Given the description of an element on the screen output the (x, y) to click on. 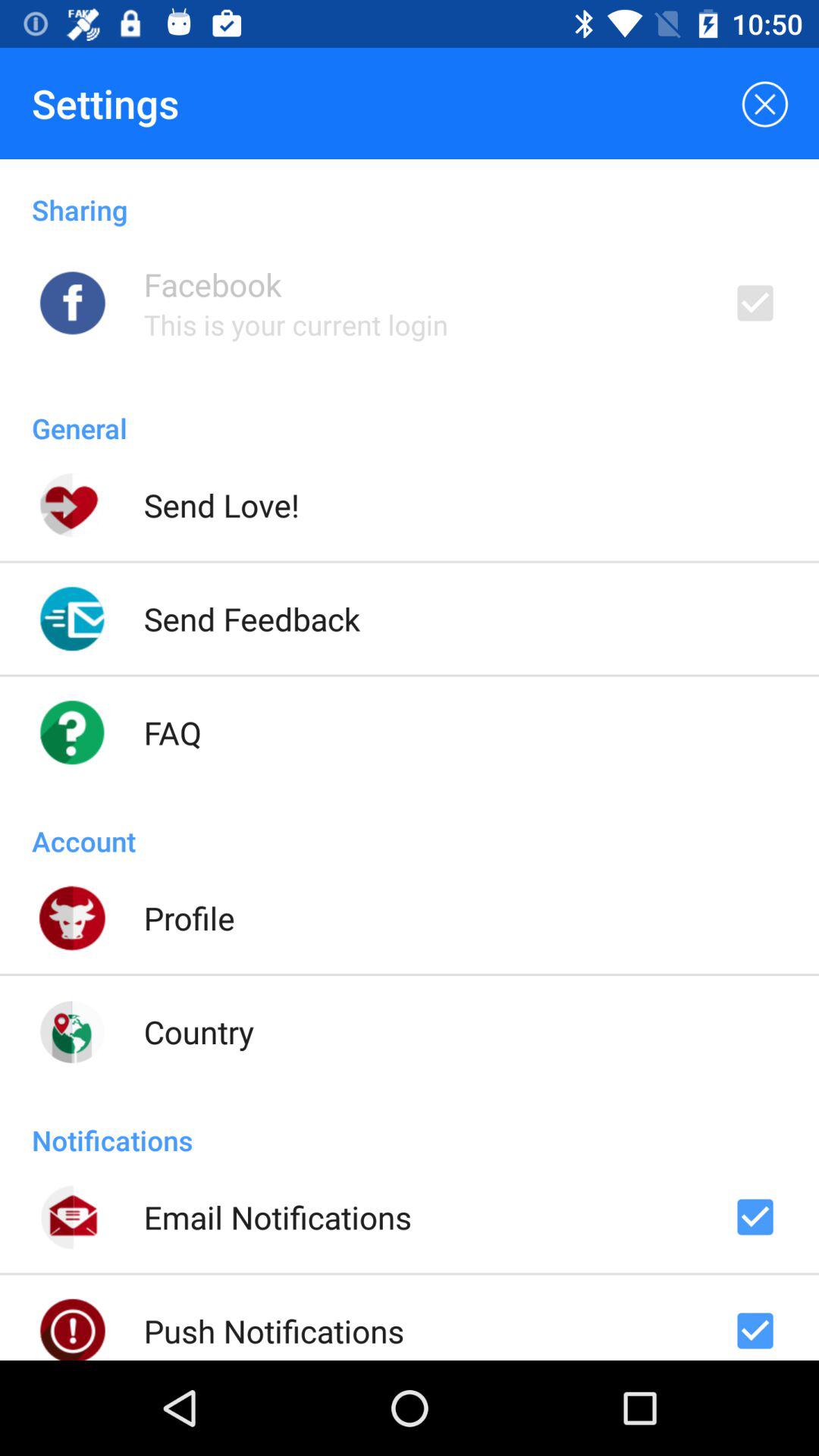
open icon above the faq (251, 618)
